Given the description of an element on the screen output the (x, y) to click on. 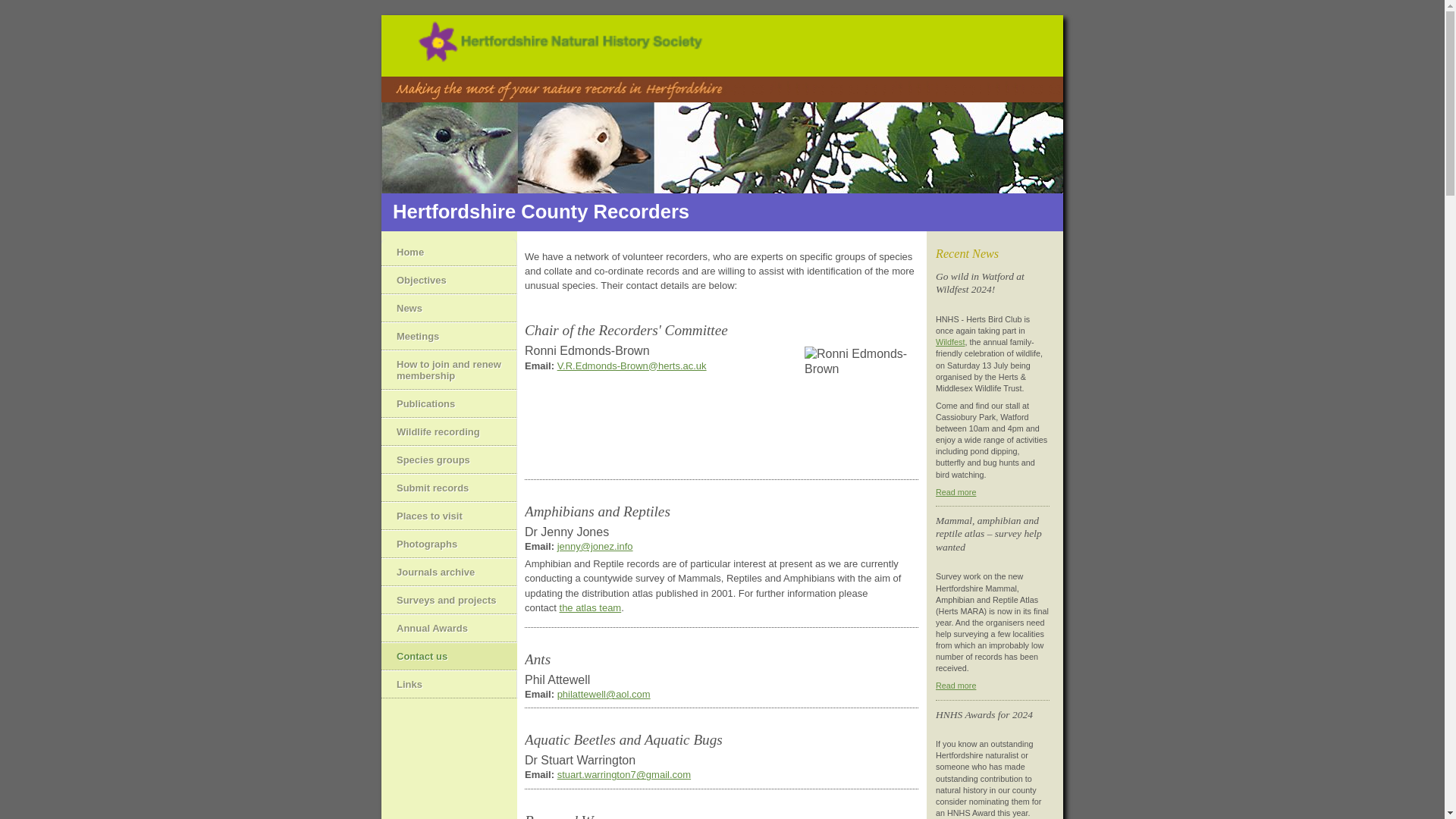
the atlas team (590, 607)
How to join and renew membership (448, 370)
Wildlife recording (448, 431)
Meetings (448, 335)
News (448, 307)
Home (448, 252)
Objectives (448, 279)
Go wild in Watford at Wildfest 2024! (955, 491)
Publications (448, 403)
